Given the description of an element on the screen output the (x, y) to click on. 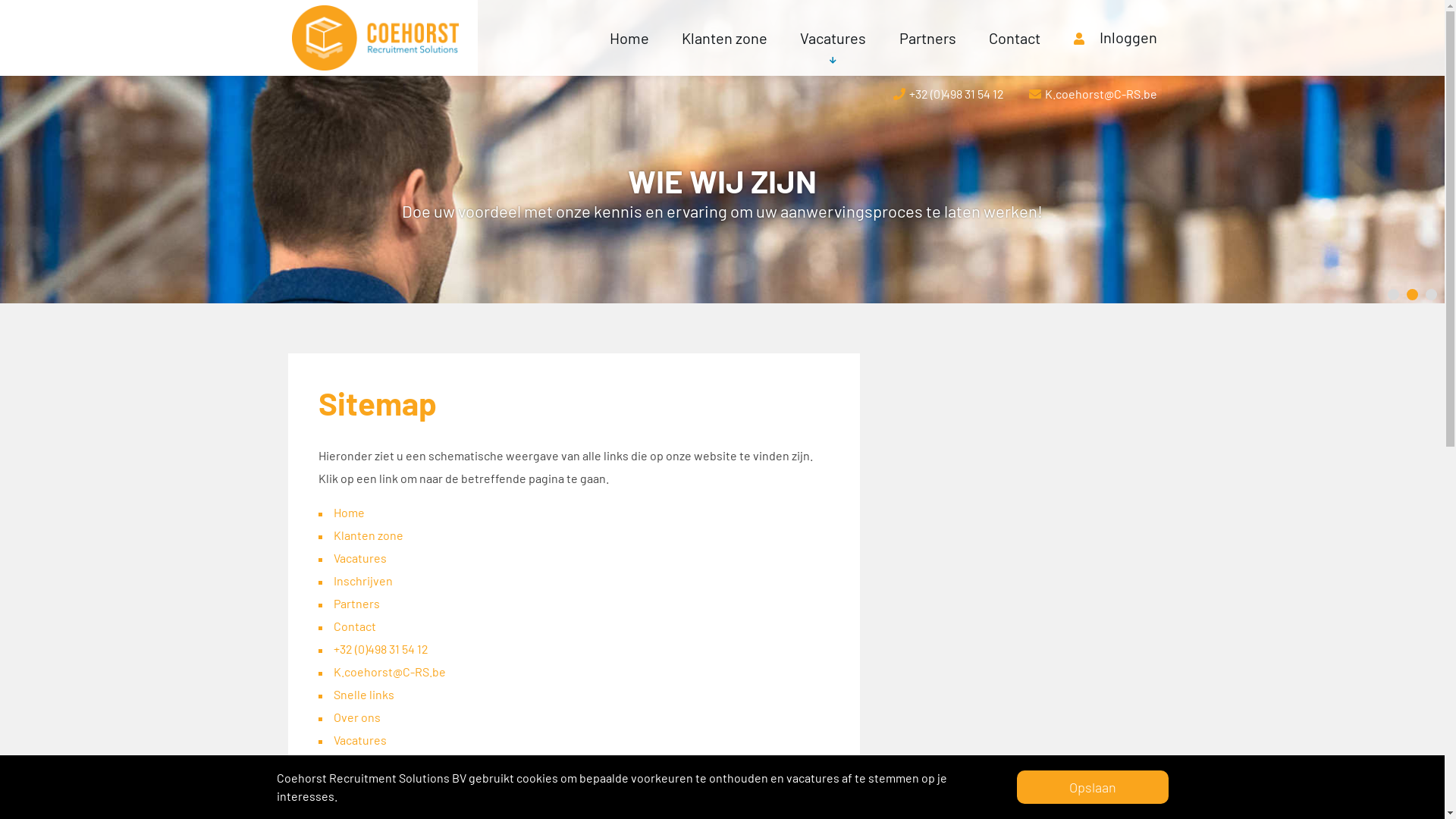
Vacatures Element type: text (832, 37)
+32 (0)498 31 54 12 Element type: text (948, 93)
3 Element type: text (1431, 294)
Inschrijven Element type: text (362, 580)
Inschrijven Kandidaat Element type: text (390, 785)
Privacy statement Element type: text (381, 807)
Over ons Element type: text (356, 716)
+32 (0)498 31 54 12 Element type: text (380, 648)
Partners Element type: text (356, 603)
Klanten zone Element type: text (368, 534)
1 Element type: text (1393, 294)
Partners Element type: text (927, 37)
Snelle links Element type: text (363, 694)
Klanten zone Element type: text (723, 37)
Contact Element type: text (354, 762)
Vacatures Element type: text (359, 557)
K.coehorst@C-RS.be Element type: text (389, 671)
K.coehorst@C-RS.be Element type: text (1092, 93)
2 Element type: text (1412, 294)
Contact Element type: text (1014, 37)
Home Element type: text (629, 37)
Vacatures Element type: text (359, 739)
Home Element type: text (348, 512)
Contact Element type: text (354, 625)
